Given the description of an element on the screen output the (x, y) to click on. 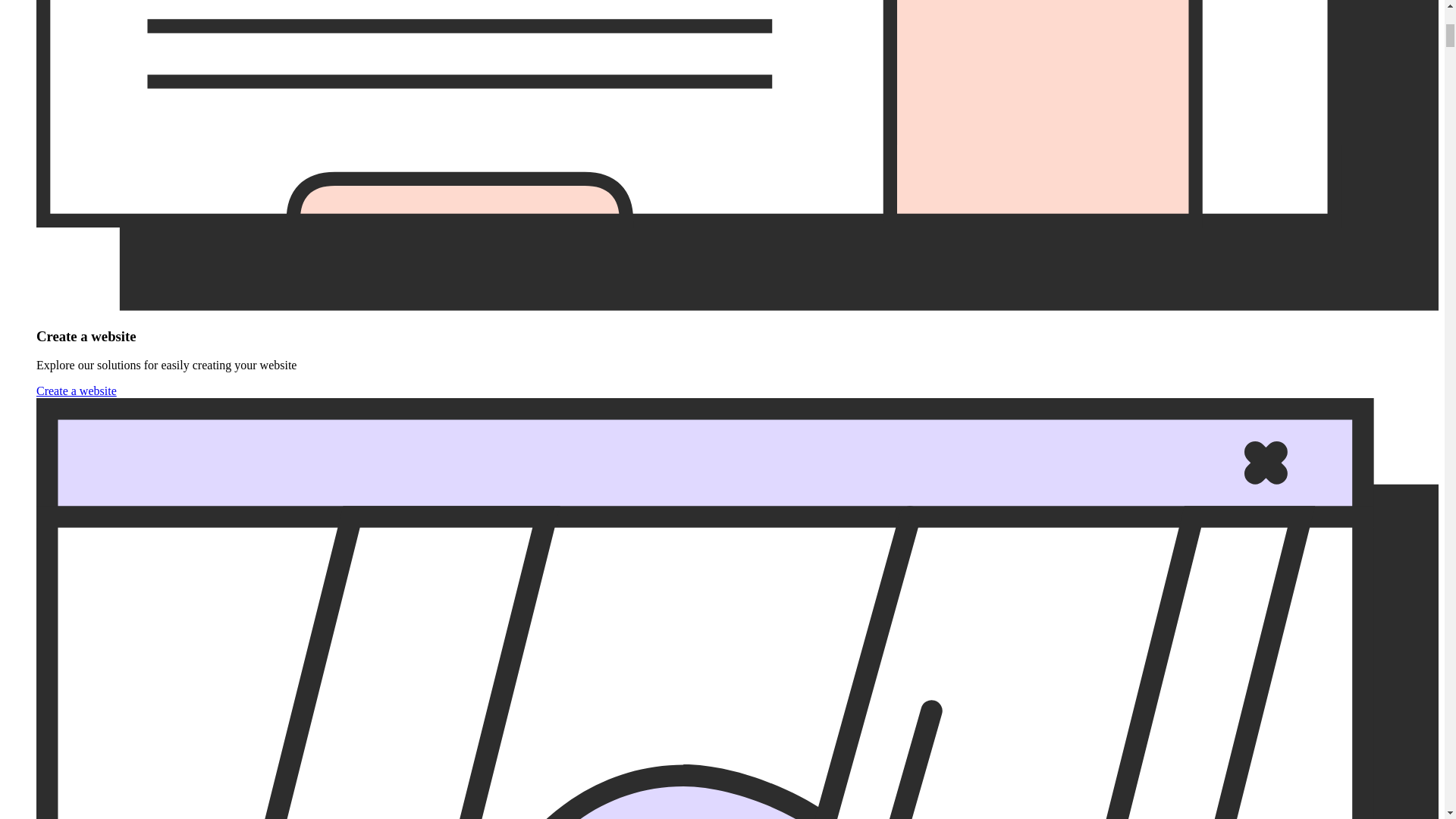
Create a website (76, 390)
